Given the description of an element on the screen output the (x, y) to click on. 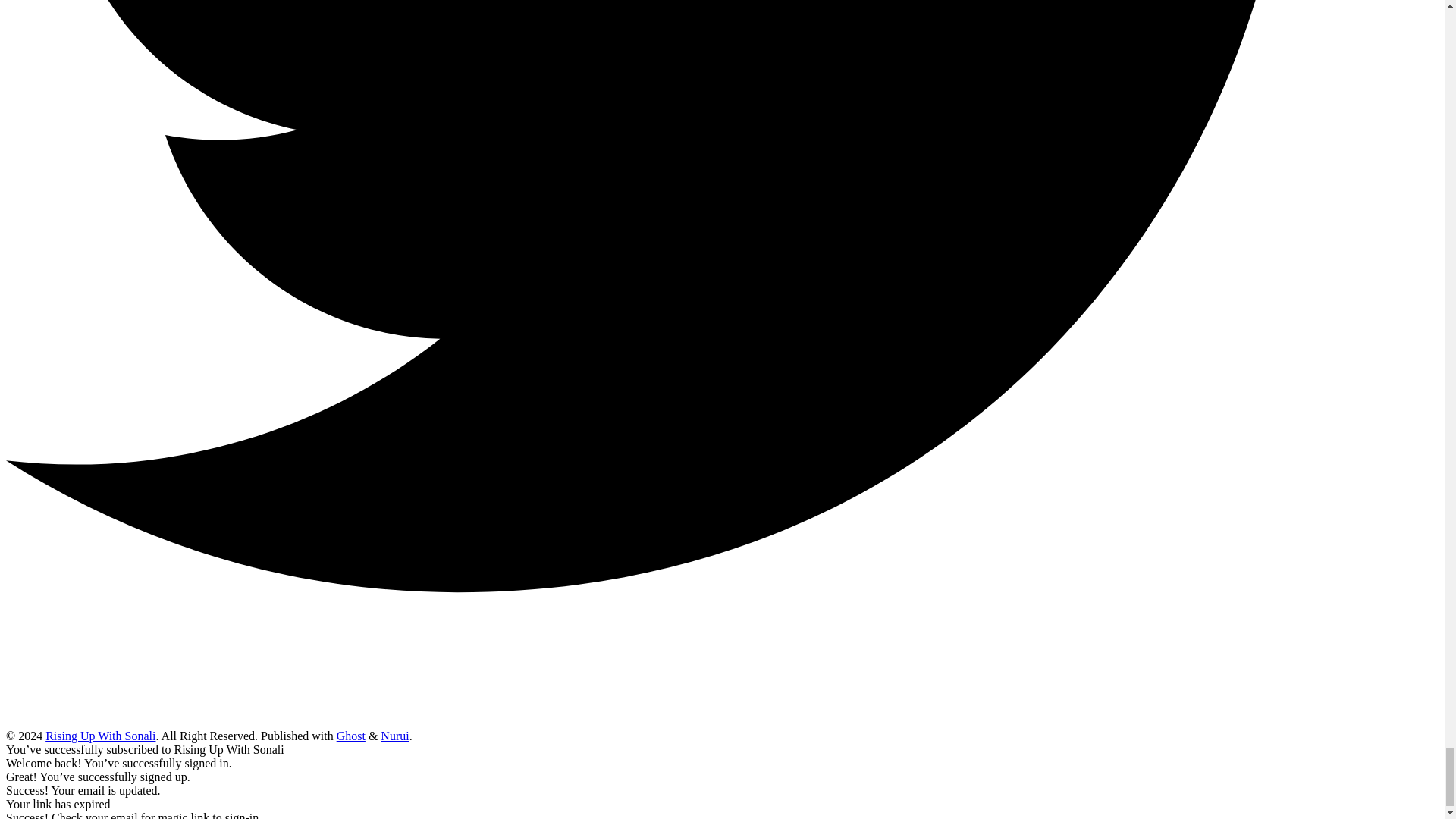
Ghost (350, 735)
Rising Up With Sonali (100, 735)
Nurui (394, 735)
